Given the description of an element on the screen output the (x, y) to click on. 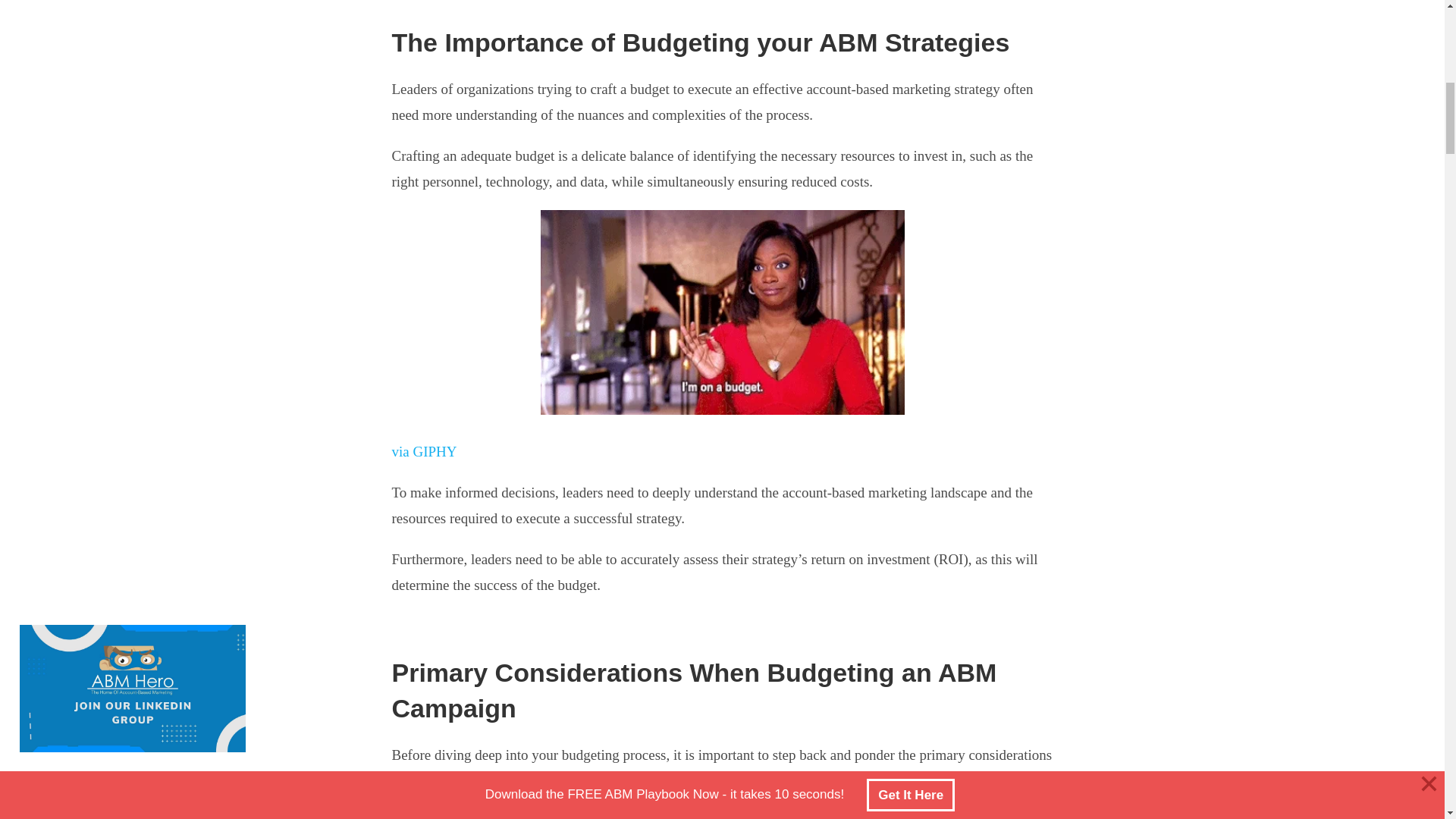
via GIPHY (424, 451)
